Given the description of an element on the screen output the (x, y) to click on. 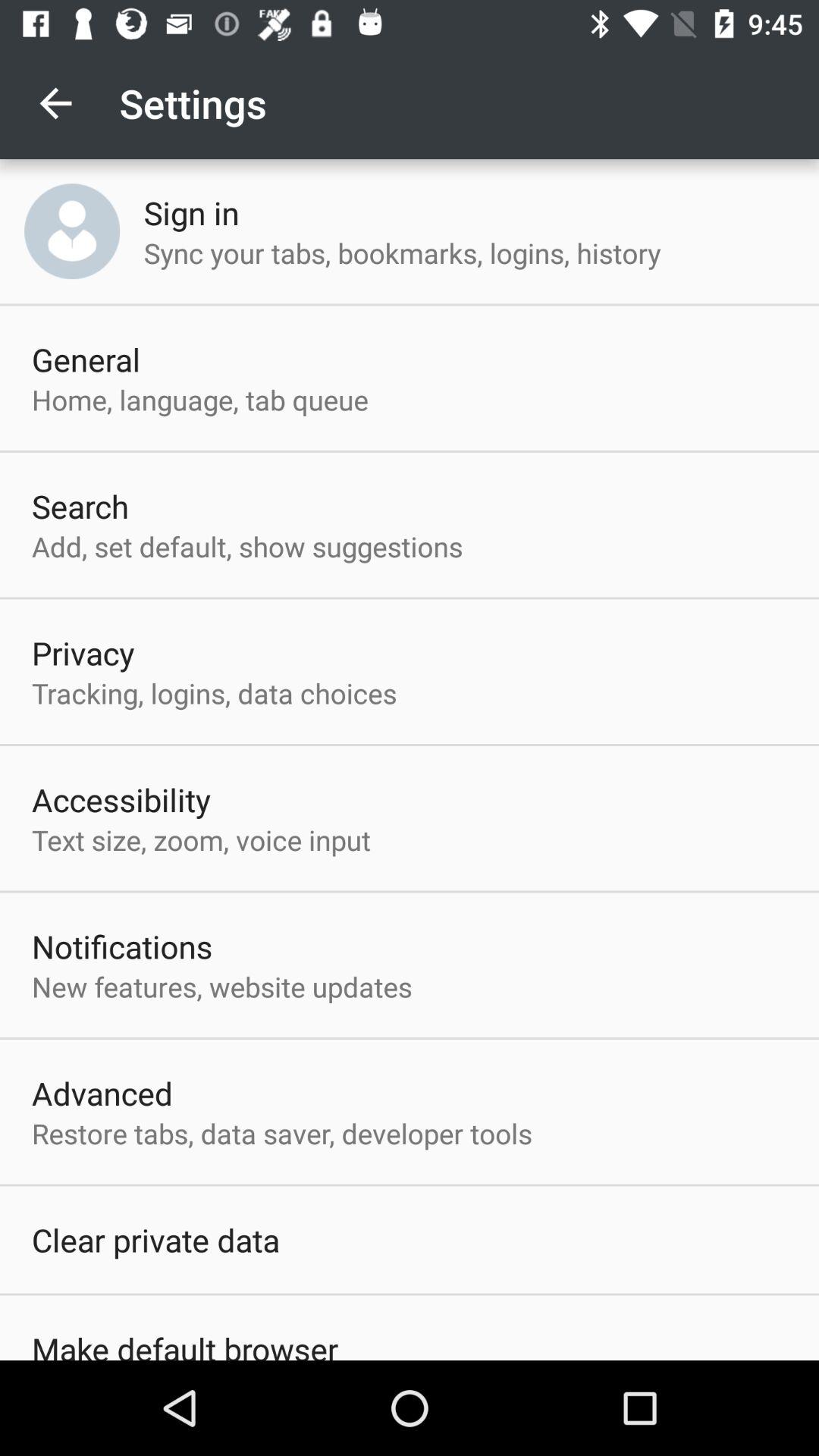
click the advanced (101, 1092)
